Given the description of an element on the screen output the (x, y) to click on. 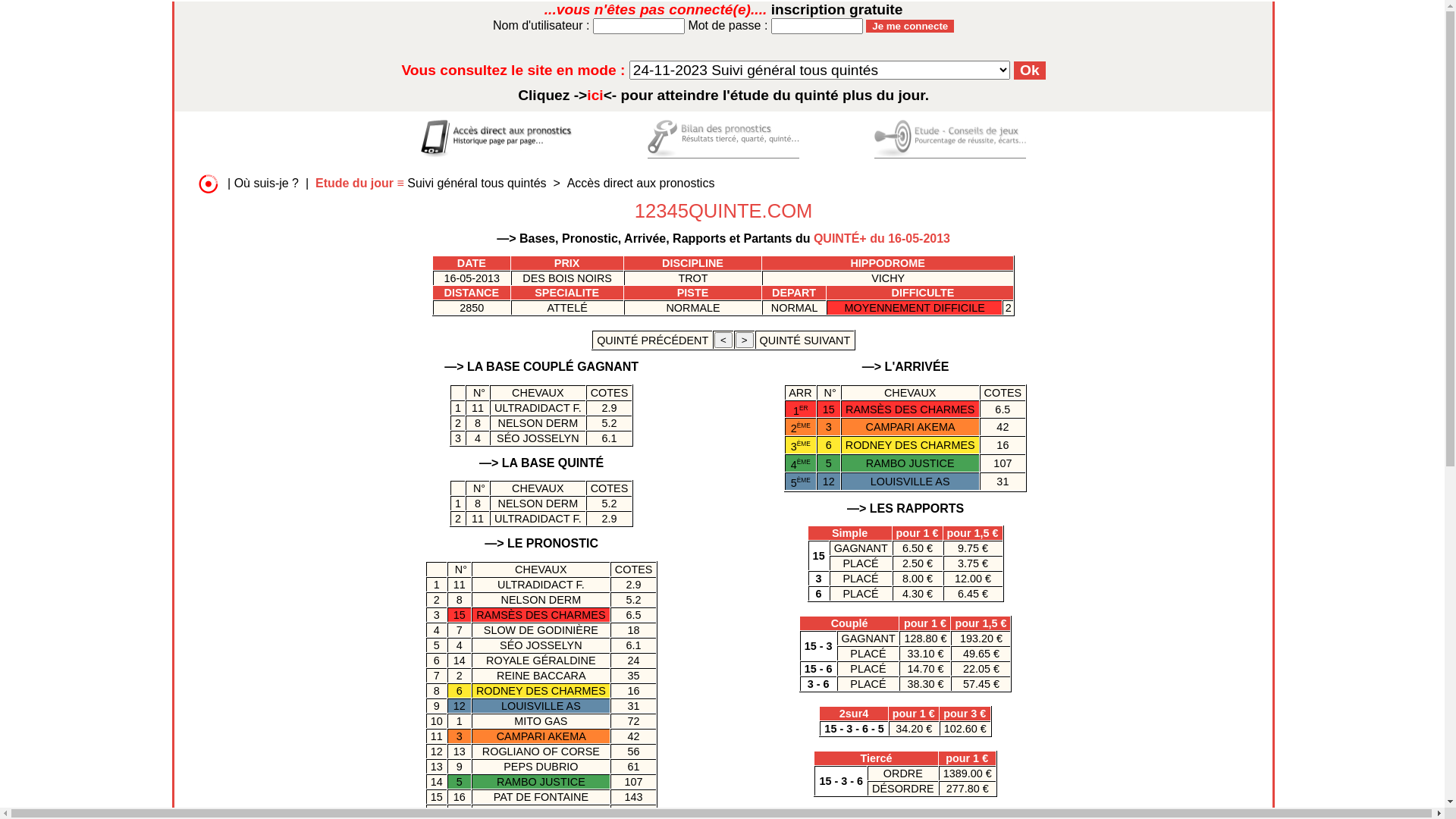
inscription gratuite Element type: text (837, 9)
> Element type: text (744, 340)
Je me connecte Element type: text (909, 25)
< Element type: text (723, 340)
12345QUINTE.COM Element type: text (723, 210)
Ok Element type: text (1029, 70)
pronostic suivant Element type: hover (744, 340)
